Given the description of an element on the screen output the (x, y) to click on. 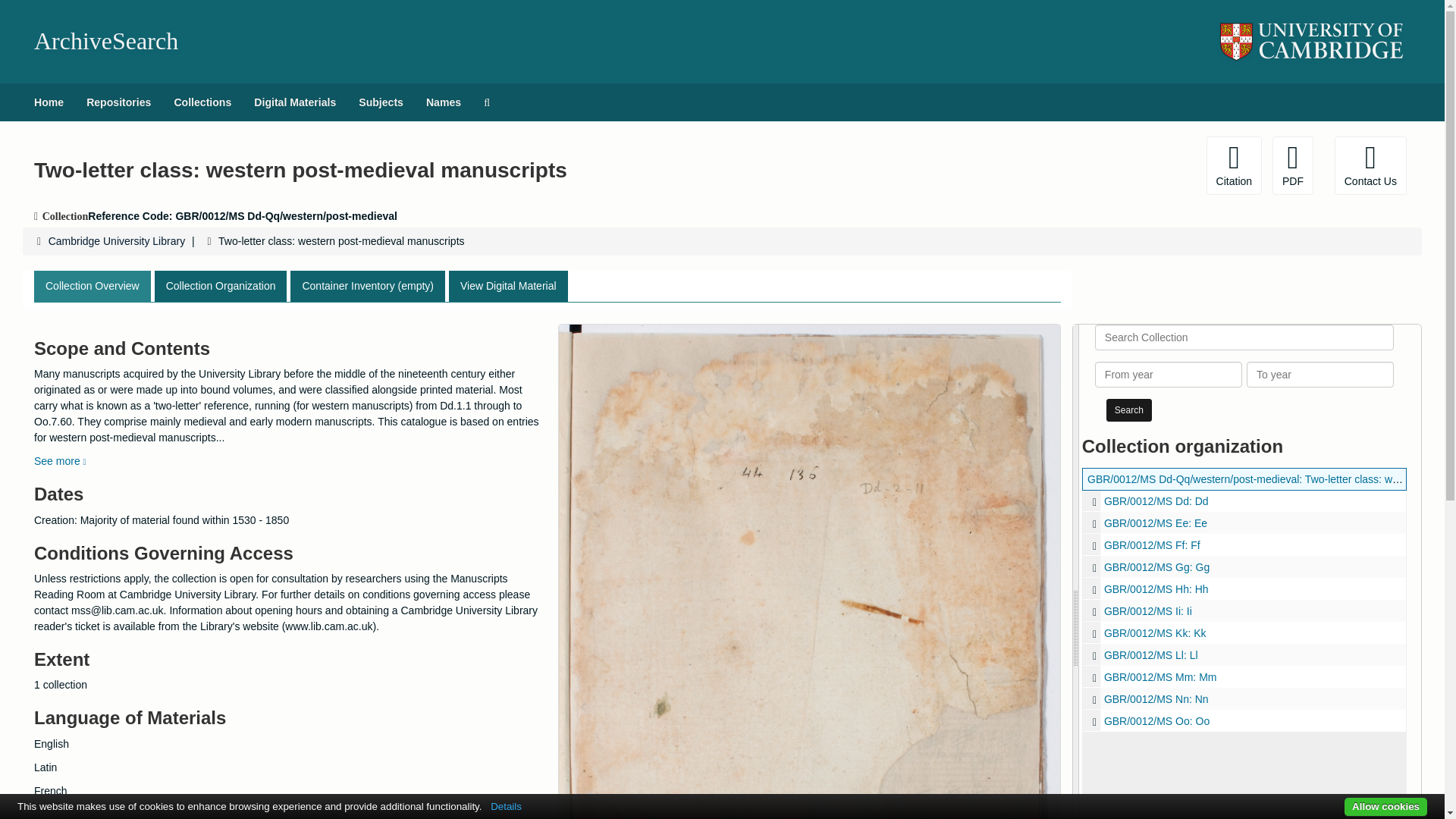
Return to the ArchiveSearch homepage (105, 40)
PDF (1292, 165)
Ee (1093, 522)
Search The Archives (485, 102)
Ee (1244, 522)
Search The Archives (485, 102)
Repositories (118, 102)
Search (1128, 409)
View Digital Material (507, 286)
Ll (1244, 654)
Ff (1244, 544)
Search (1128, 409)
Hh (1244, 588)
Subjects (380, 102)
Collection Organization (220, 286)
